Given the description of an element on the screen output the (x, y) to click on. 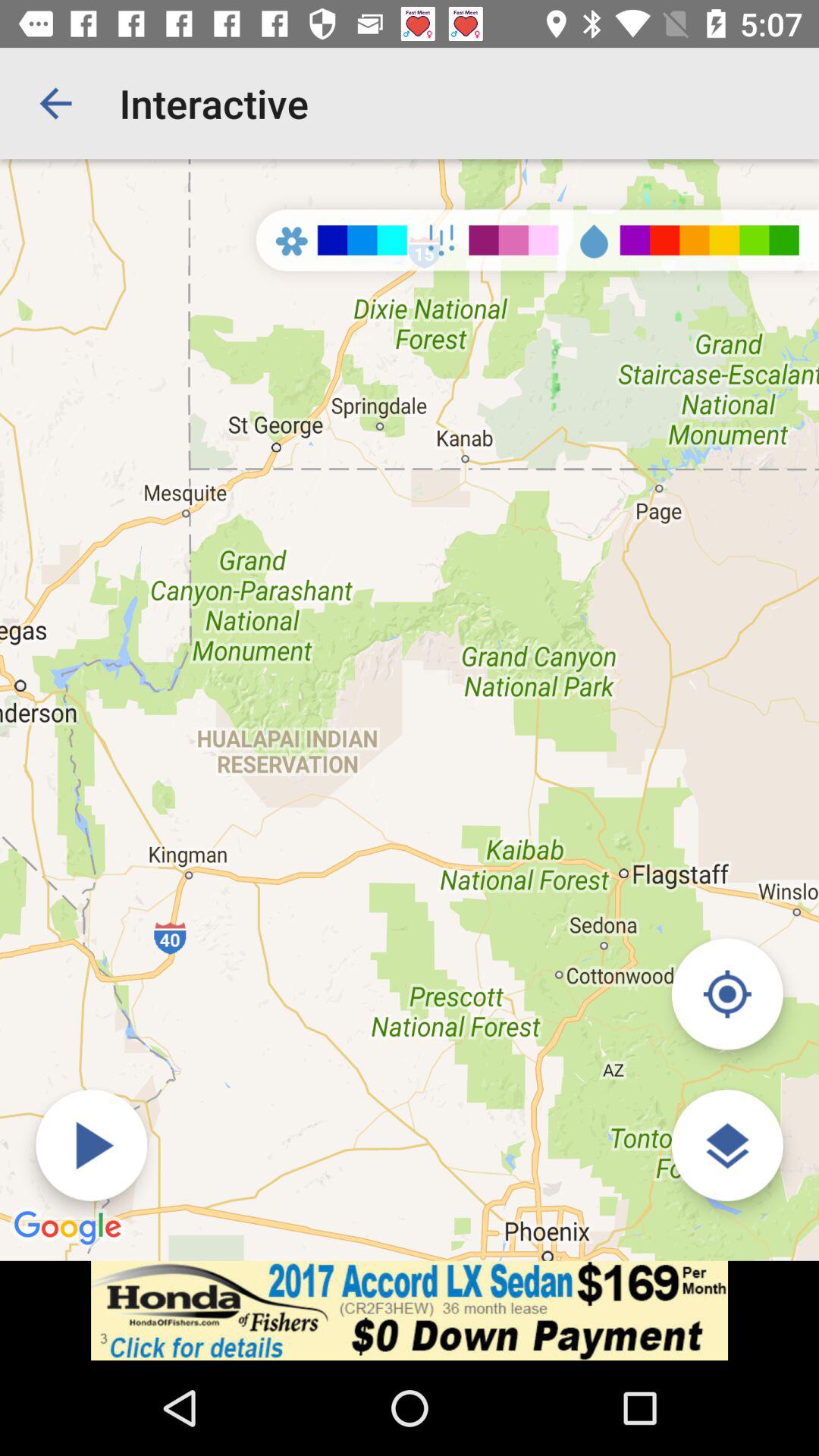
activate gps (727, 993)
